Given the description of an element on the screen output the (x, y) to click on. 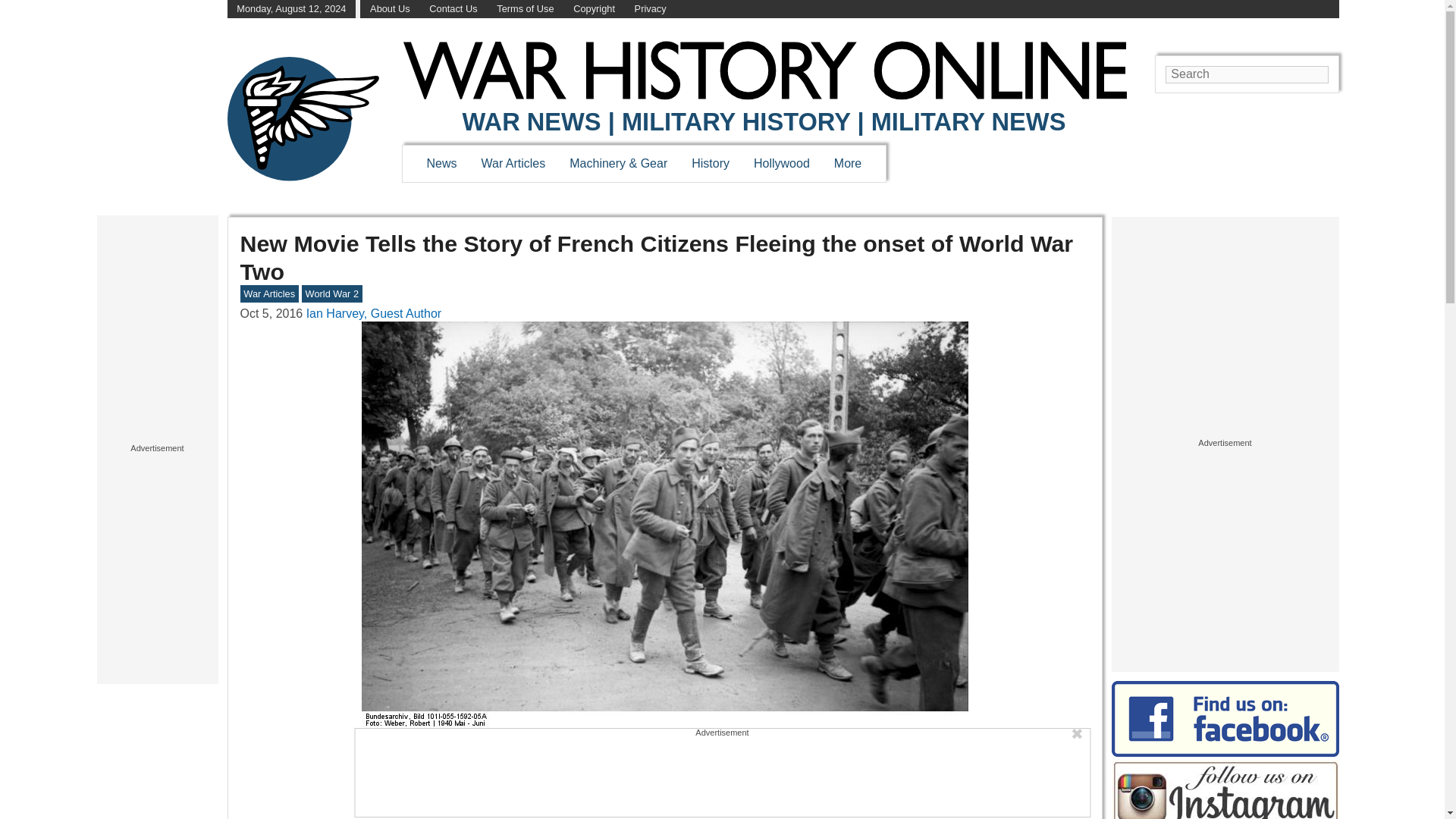
News (441, 163)
Privacy (650, 8)
Terms of Use (524, 8)
War Articles (513, 163)
About Us (389, 8)
Copyright (593, 8)
More (847, 163)
Hollywood (781, 163)
Contact Us (453, 8)
